Given the description of an element on the screen output the (x, y) to click on. 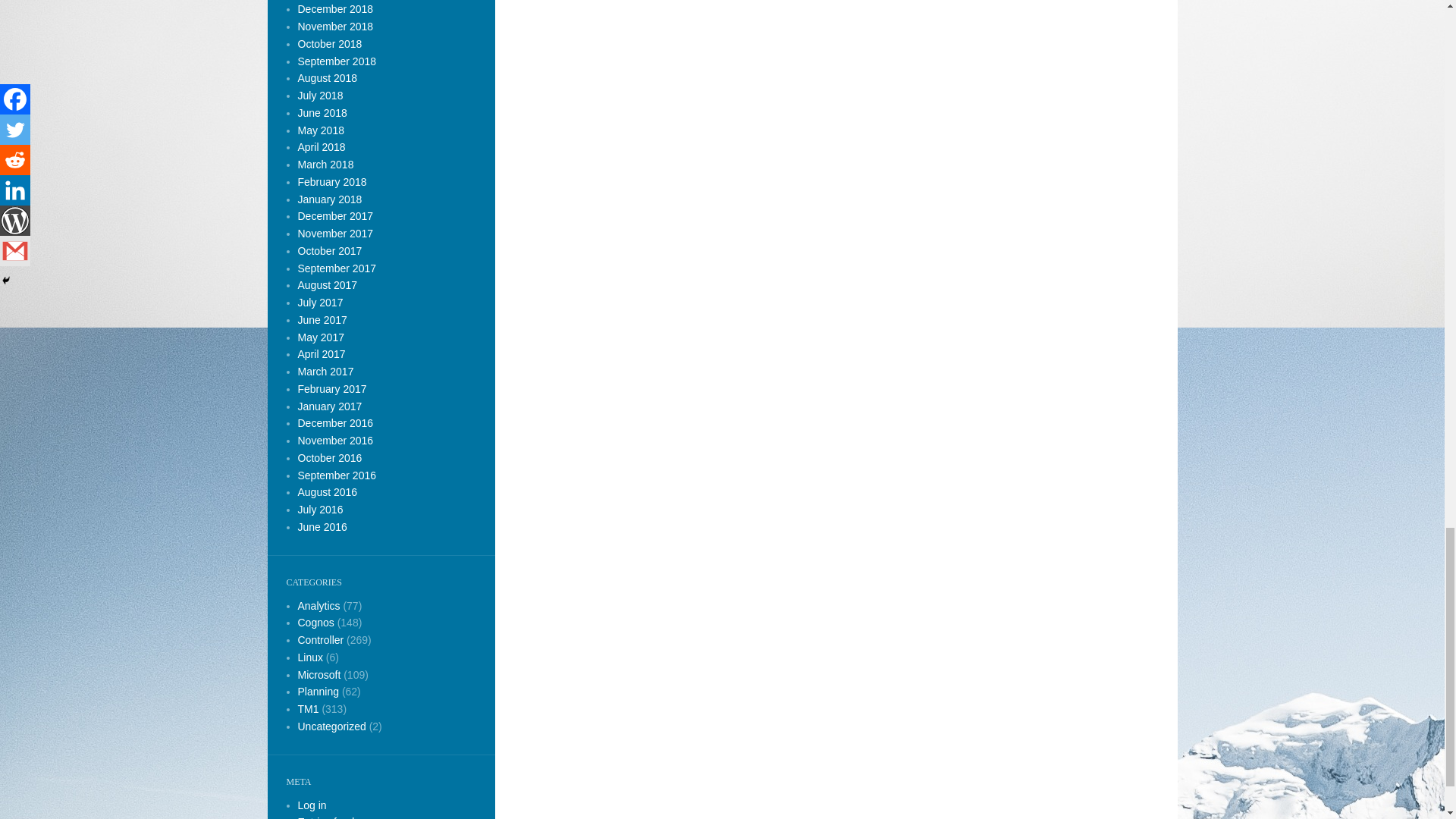
Information about Cognos TM1 (307, 708)
IBM Cognos Business Intelligence  (318, 604)
Information about Cognos Controller (320, 639)
Information about Cognos Planning (318, 691)
Information about Cognos BI (315, 622)
